Given the description of an element on the screen output the (x, y) to click on. 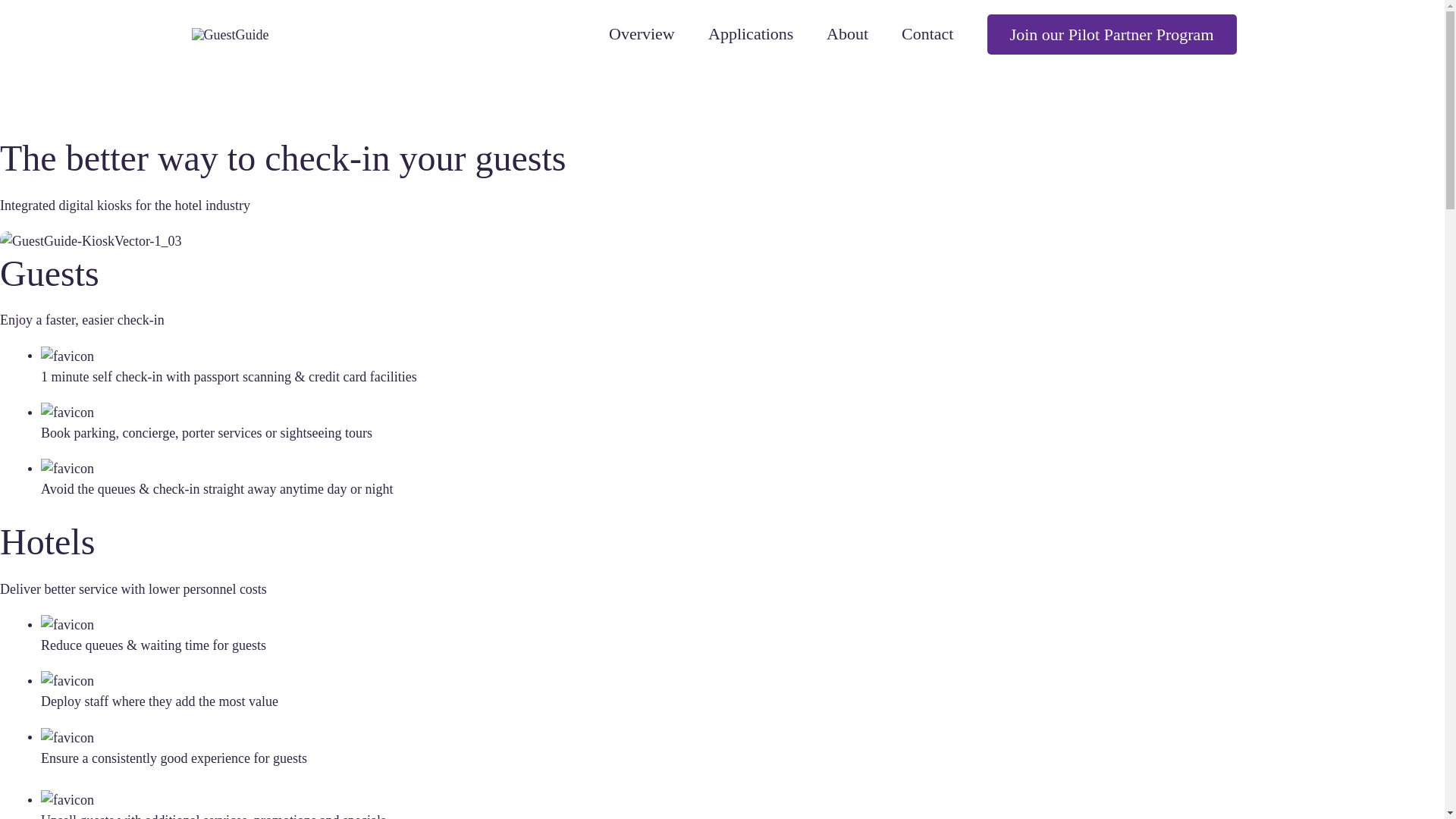
Join our Pilot Partner Program Element type: text (1111, 34)
About Element type: text (846, 33)
GuestGuide-KioskVector-1_03 Element type: hover (91, 241)
Join our Pilot Partner Program Element type: text (1111, 34)
Applications Element type: text (750, 33)
Contact Element type: text (926, 33)
Overview Element type: text (641, 33)
